Given the description of an element on the screen output the (x, y) to click on. 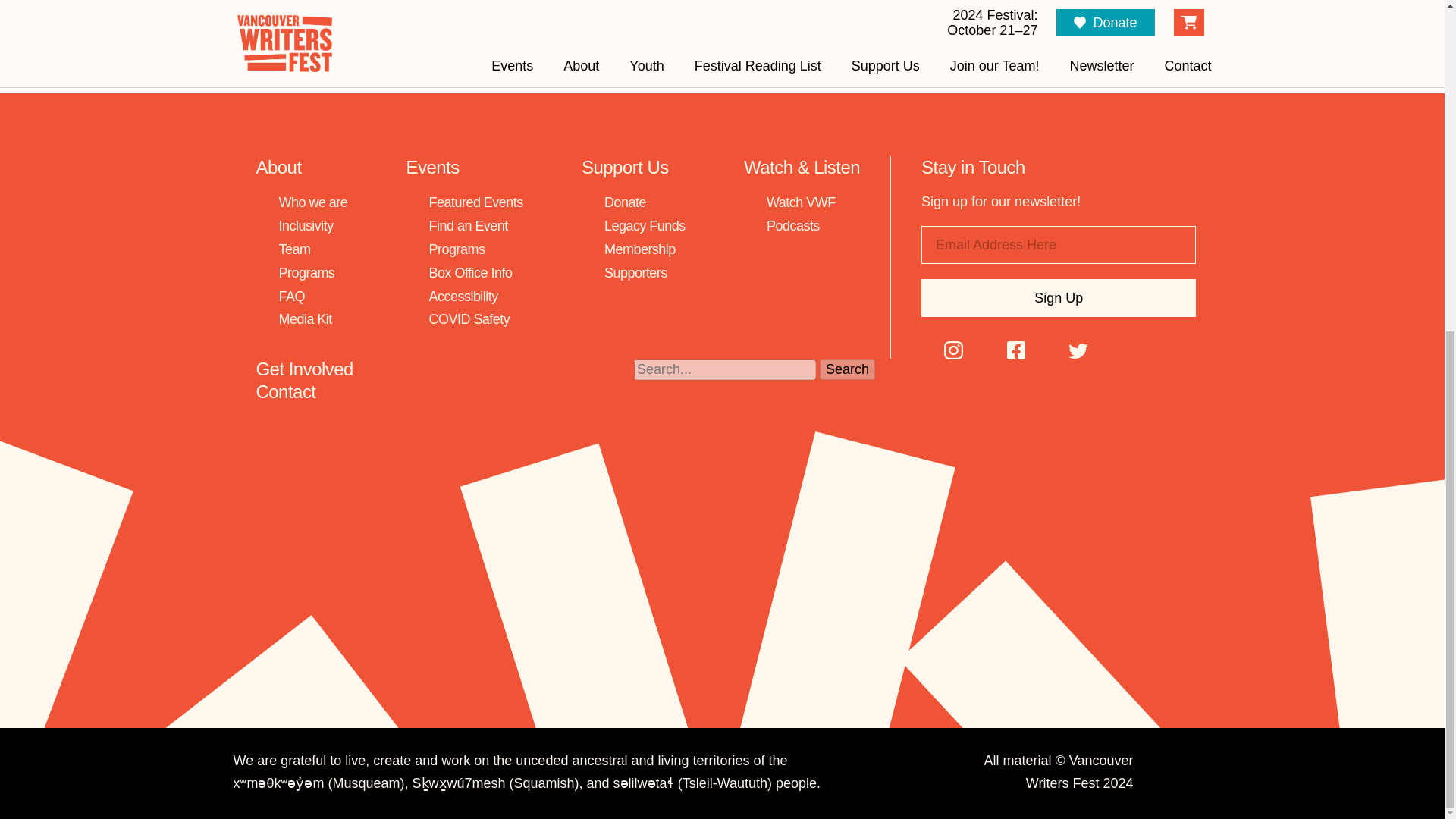
Search (847, 369)
Sign Up (1058, 297)
Search (847, 369)
